Given the description of an element on the screen output the (x, y) to click on. 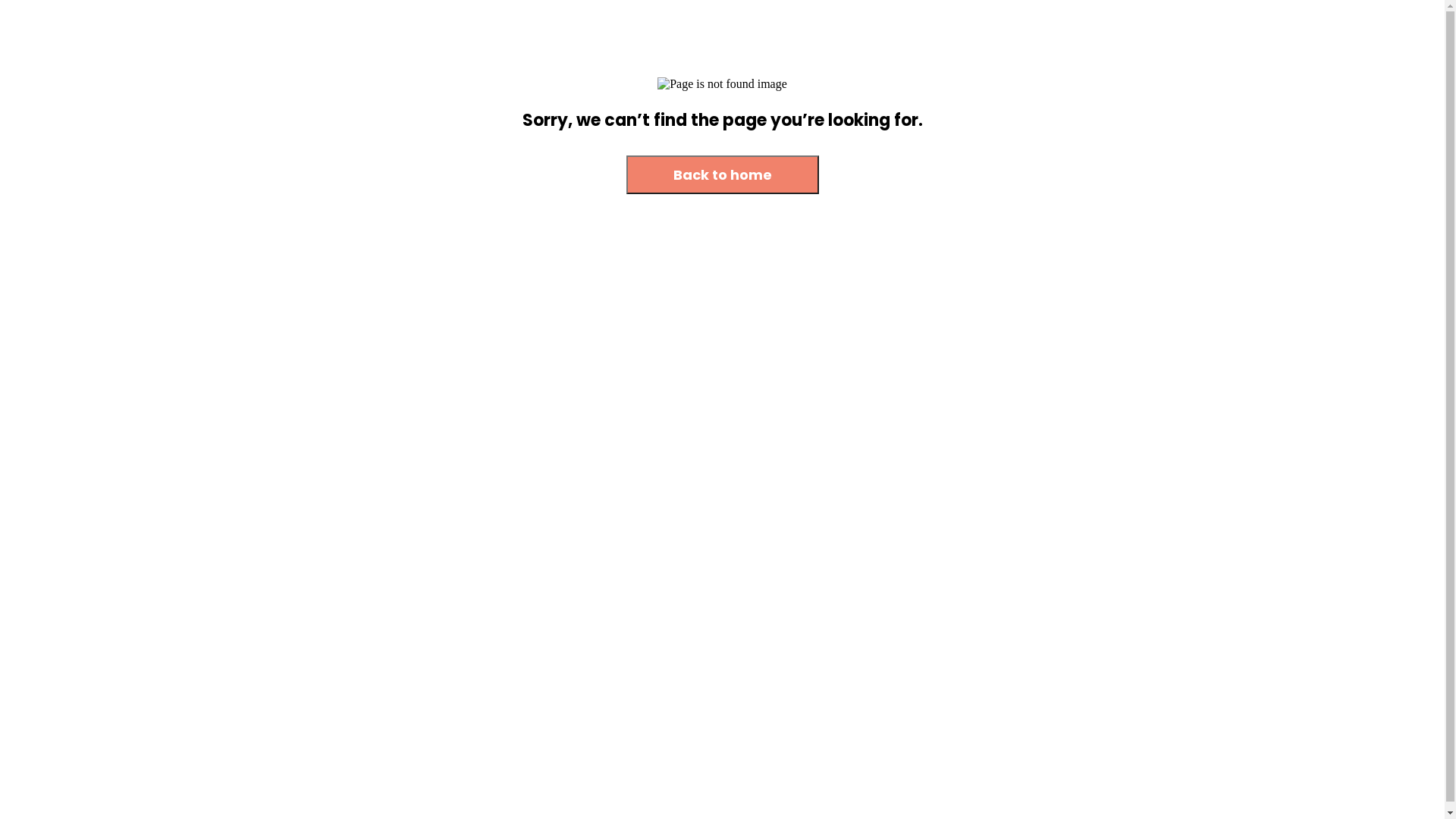
Back to home Element type: text (722, 174)
Back to home Element type: text (722, 175)
